Given the description of an element on the screen output the (x, y) to click on. 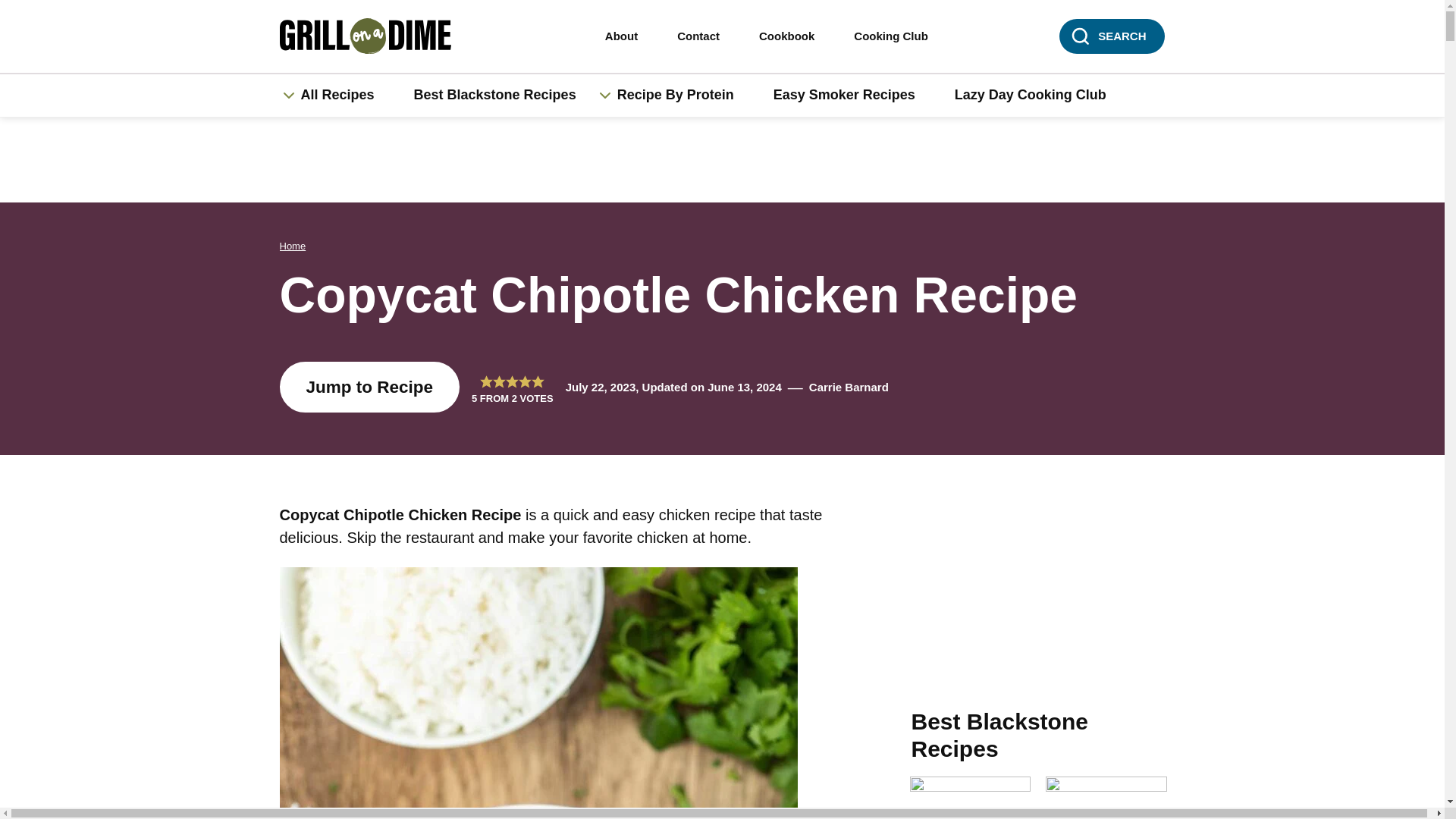
Easy Smoker Recipes (844, 95)
Lazy Day Cooking Club (1029, 95)
Cookbook (786, 36)
All Recipes (345, 95)
5 FROM 2 VOTES (512, 387)
Home (292, 245)
Best Blackstone Recipes (494, 95)
SEARCH (1111, 36)
grillonadime.com (376, 36)
Carrie Barnard (848, 386)
Jump to Recipe (369, 386)
Recipe By Protein (684, 95)
About (621, 36)
Cooking Club (890, 36)
Contact (698, 36)
